Given the description of an element on the screen output the (x, y) to click on. 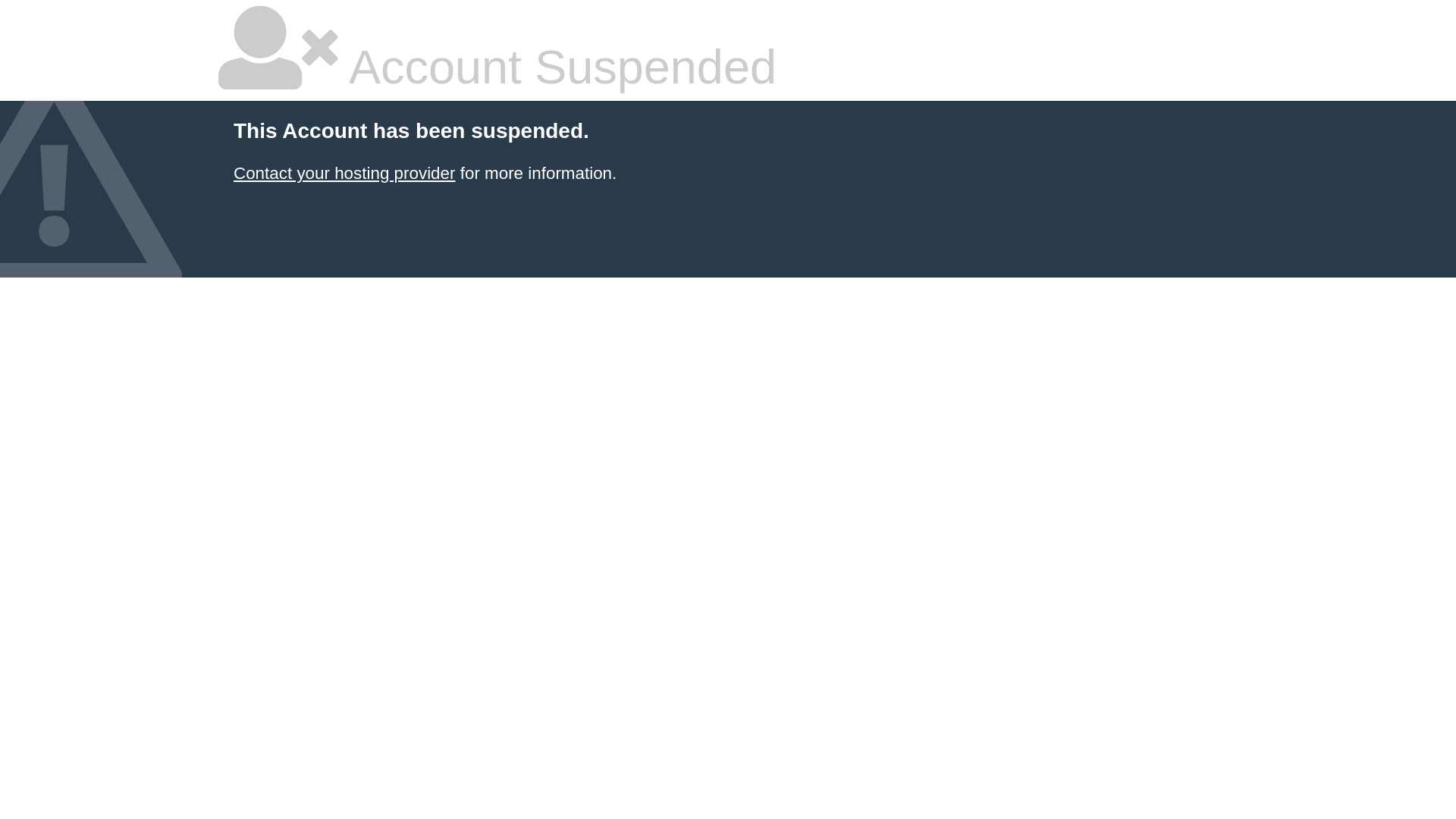
Contact your hosting provider Element type: text (344, 172)
